Given the description of an element on the screen output the (x, y) to click on. 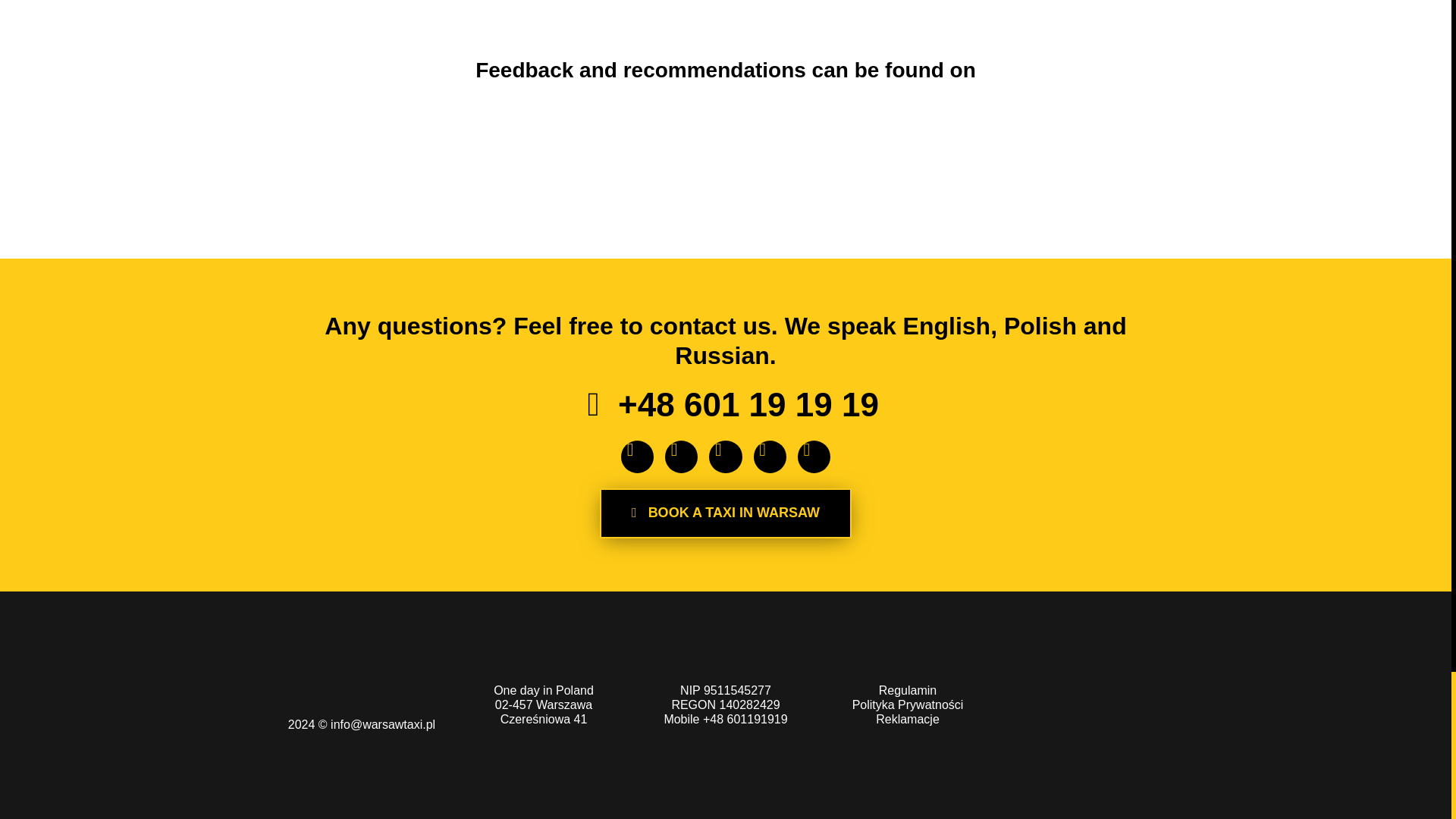
BOOK A TAXI IN WARSAW (725, 513)
Regulamin (907, 690)
Reklamacje (907, 718)
